Given the description of an element on the screen output the (x, y) to click on. 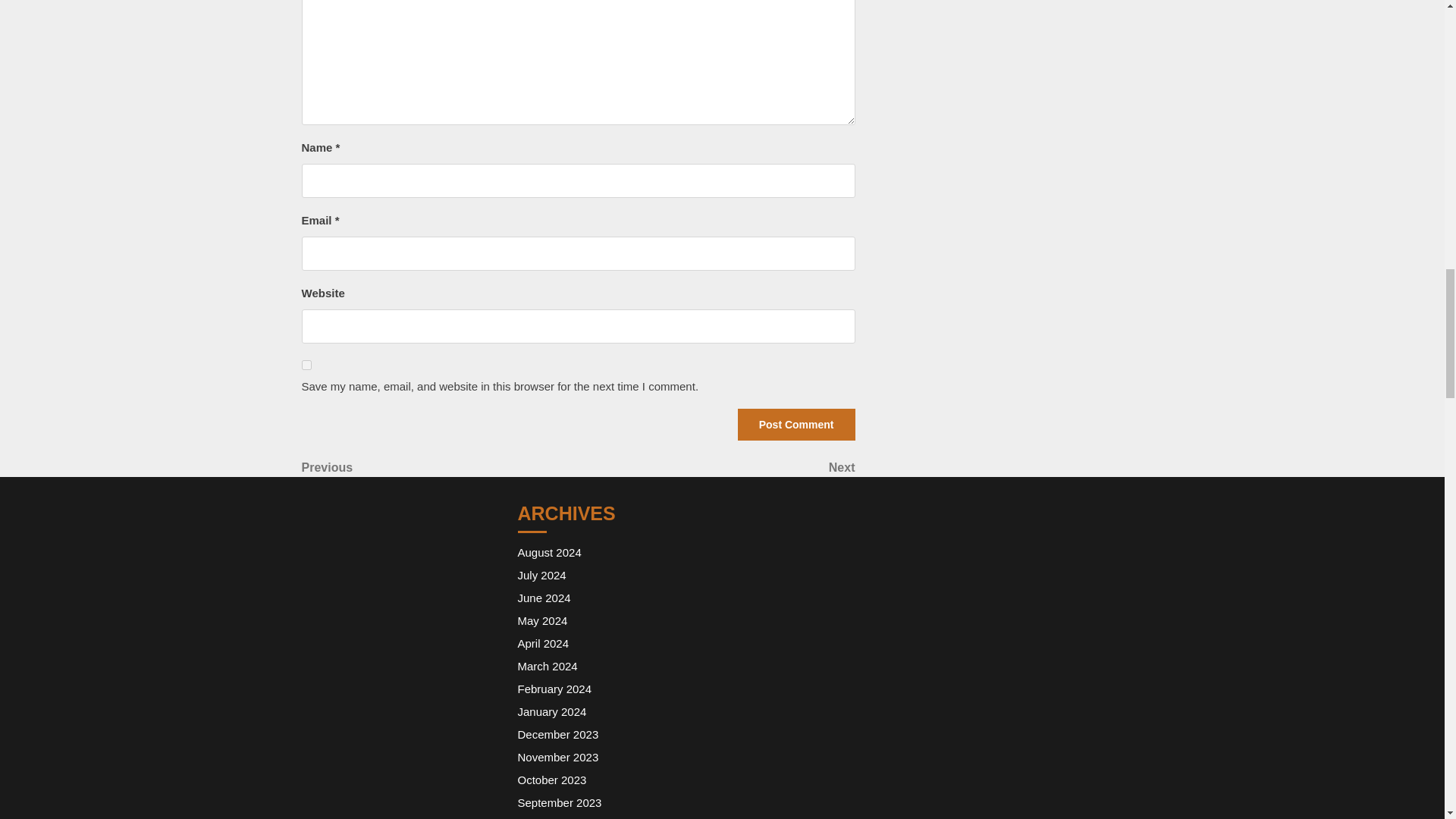
June 2024 (716, 467)
January 2024 (543, 597)
yes (551, 711)
February 2024 (306, 365)
December 2023 (553, 688)
Post Comment (557, 734)
May 2024 (797, 424)
August 2024 (541, 620)
April 2024 (548, 552)
March 2024 (542, 643)
July 2024 (546, 666)
Post Comment (439, 467)
